Given the description of an element on the screen output the (x, y) to click on. 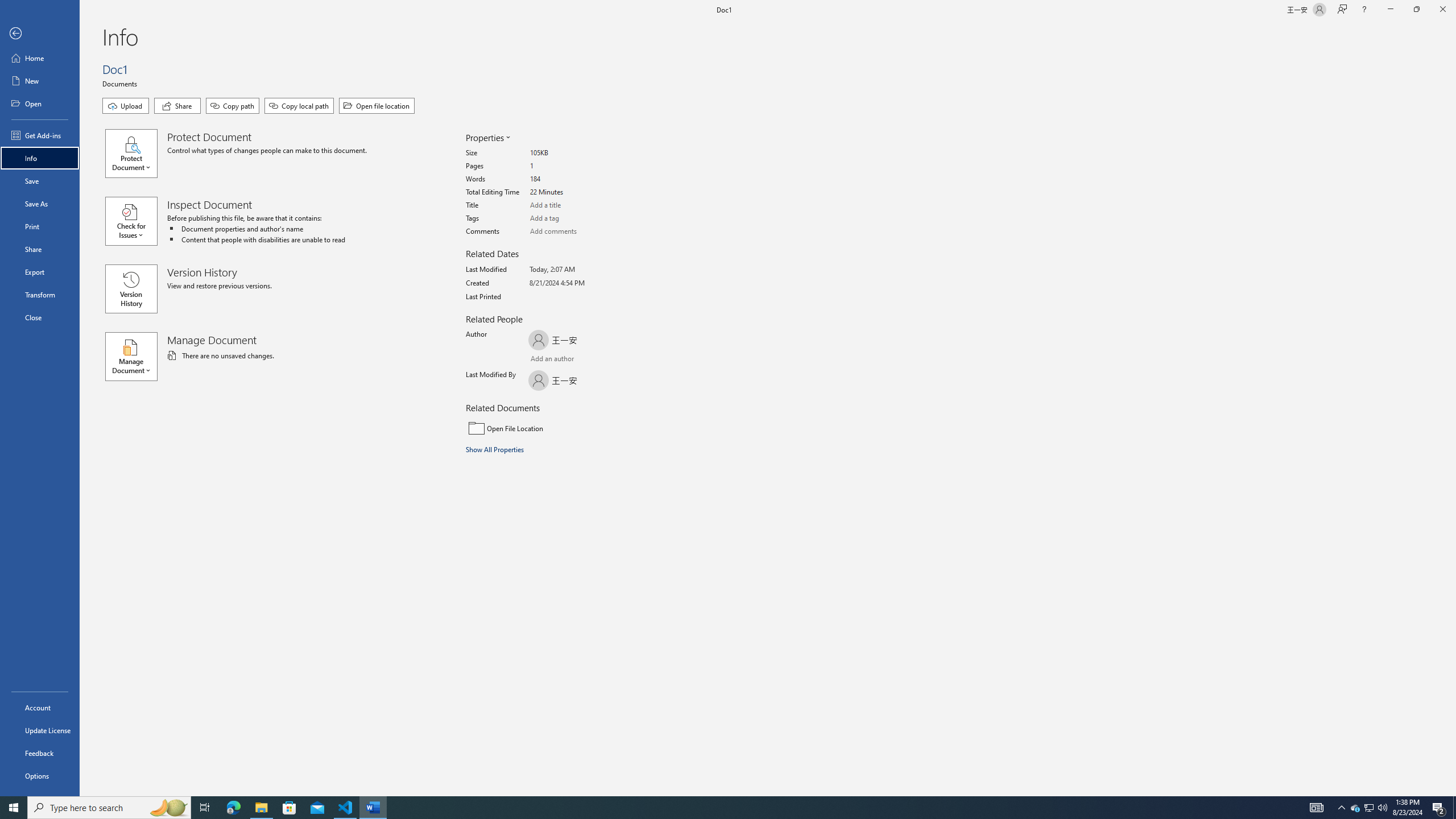
Show All Properties (495, 448)
Get Add-ins (40, 134)
Properties (486, 137)
Documents (120, 83)
Protect Document (135, 153)
Manage Document (135, 356)
Version History (130, 288)
Size (572, 153)
Copy path (232, 105)
Update License (40, 730)
